Given the description of an element on the screen output the (x, y) to click on. 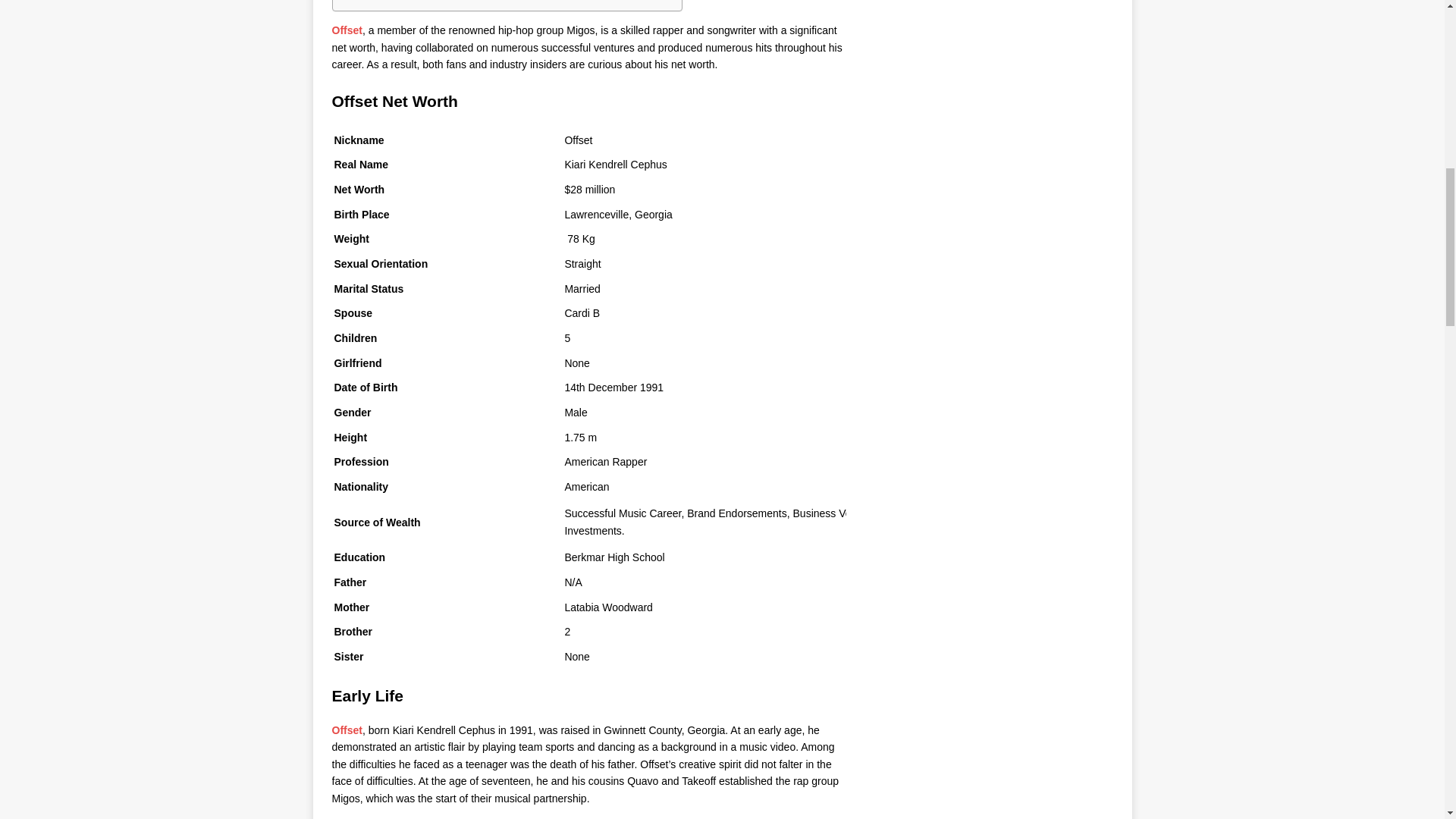
Conclusion (371, 1)
Offset (346, 729)
Offset (346, 30)
